Given the description of an element on the screen output the (x, y) to click on. 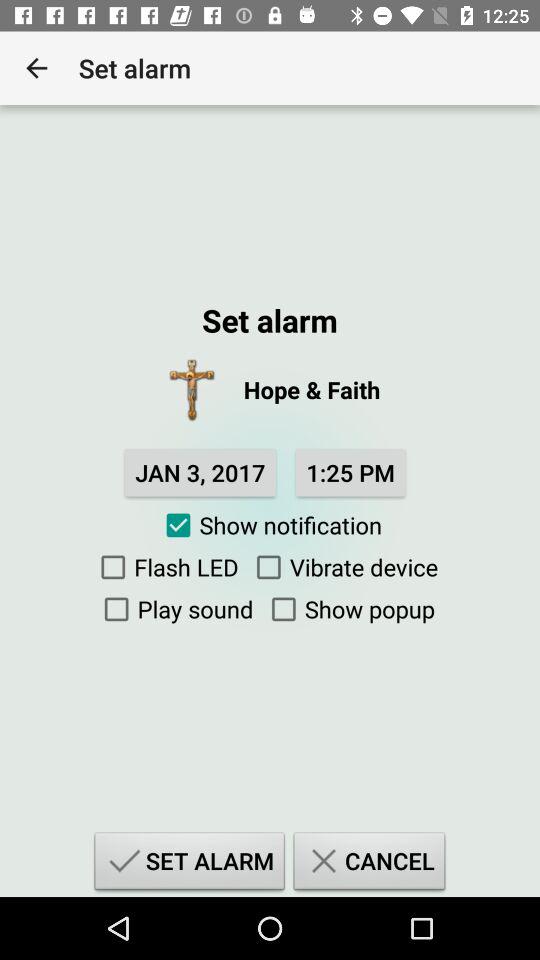
choose item above the set alarm (348, 609)
